Given the description of an element on the screen output the (x, y) to click on. 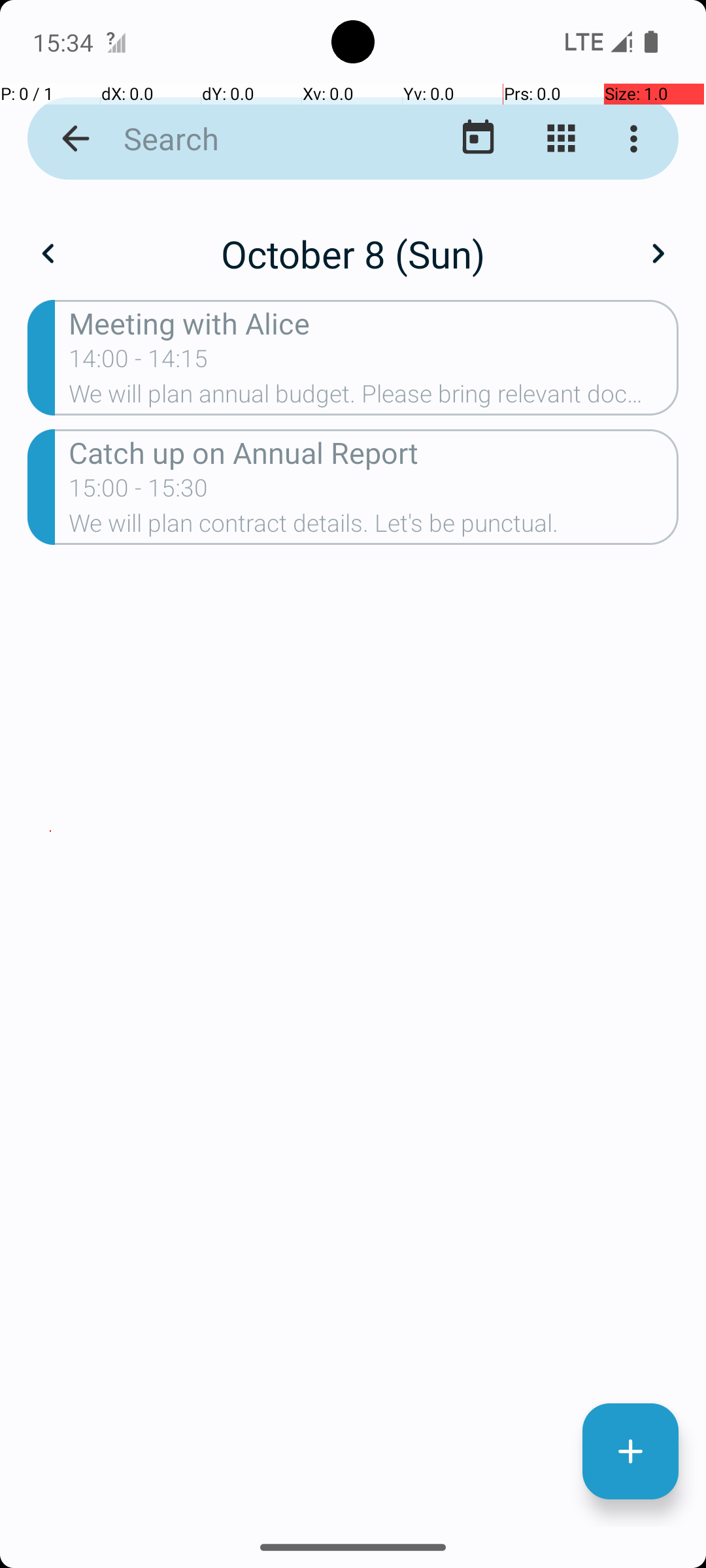
October 8 (Sun) Element type: android.widget.TextView (352, 253)
Meeting with Alice Element type: android.widget.TextView (373, 321)
14:00 - 14:15 Element type: android.widget.TextView (137, 362)
We will plan annual budget. Please bring relevant documents. Element type: android.widget.TextView (373, 397)
15:00 - 15:30 Element type: android.widget.TextView (137, 491)
We will plan contract details. Let's be punctual. Element type: android.widget.TextView (373, 526)
